Given the description of an element on the screen output the (x, y) to click on. 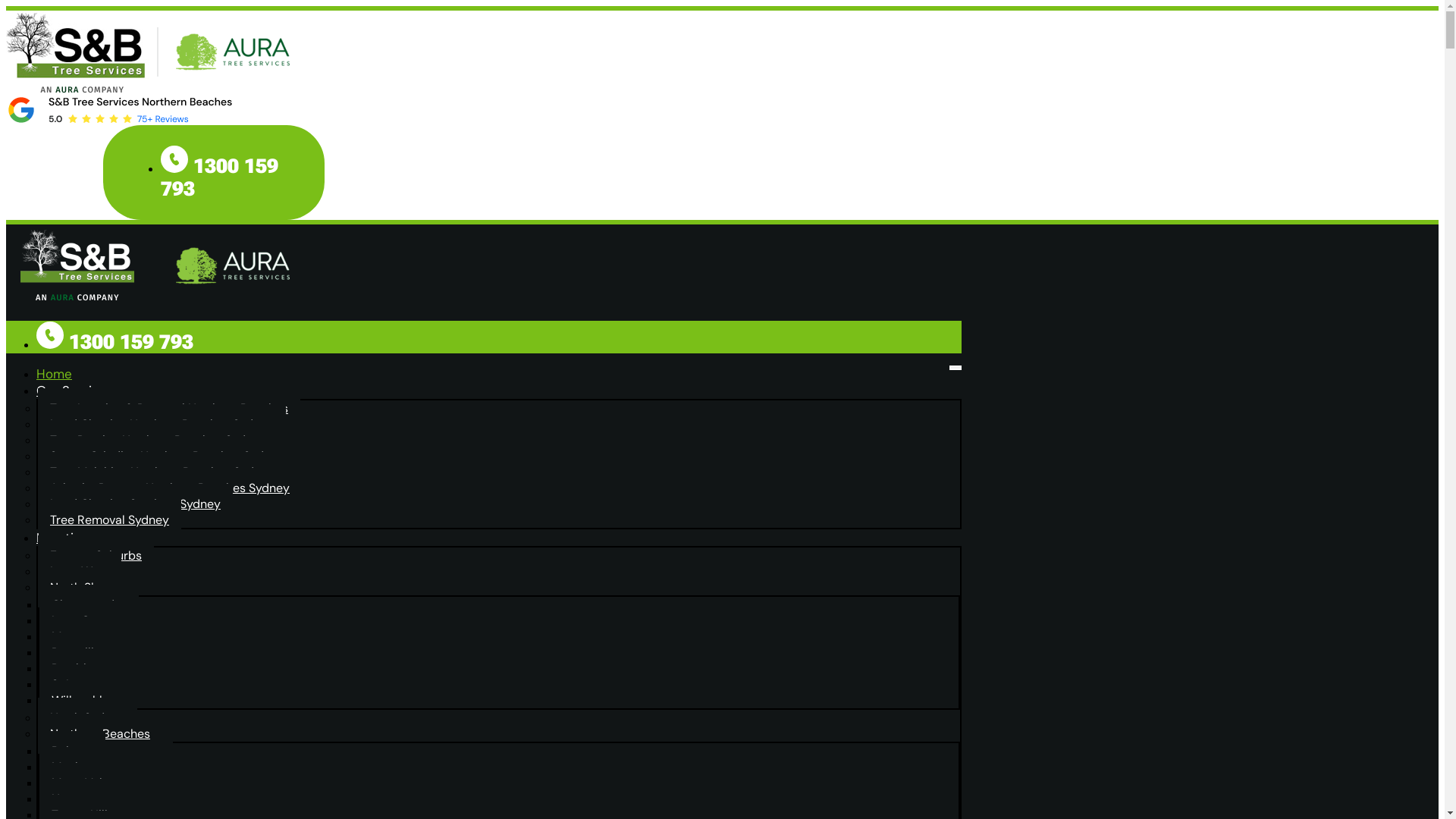
Willoughby Element type: text (82, 700)
North Sydney Element type: text (87, 717)
Land Clearing Services Sydney Element type: text (134, 503)
Tree Removal Sydney Element type: text (109, 519)
Tree Mulching Northern Beaches Sydney Element type: text (161, 471)
Arborist Reports Northern Beaches Sydney Element type: text (169, 487)
Mona Vale Element type: text (80, 782)
1300 159 793 Element type: text (219, 177)
Lane Cove Element type: text (80, 620)
Home Element type: text (72, 373)
Mosman Element type: text (74, 636)
Roseville Element type: text (75, 652)
Locations Element type: text (90, 537)
Stump Grinding Northern Beaches Sydney Element type: text (166, 456)
Tree Pruning Northern Beaches Sydney Element type: text (157, 440)
Inner West Element type: text (79, 571)
Land Clearing Northern Beaches Sydney Element type: text (161, 424)
Eastern Suburbs Element type: text (95, 555)
Northern Beaches Element type: text (104, 733)
St Ives Element type: text (69, 684)
Chatswood Element type: text (82, 604)
Pymble Element type: text (72, 668)
Belrose Element type: text (72, 751)
1300 159 793 Element type: text (114, 341)
North Shore Element type: text (87, 587)
Tree Lopping & Removal Northern Beaches Element type: text (168, 408)
Manly Element type: text (68, 766)
Our Services Element type: text (99, 390)
